Given the description of an element on the screen output the (x, y) to click on. 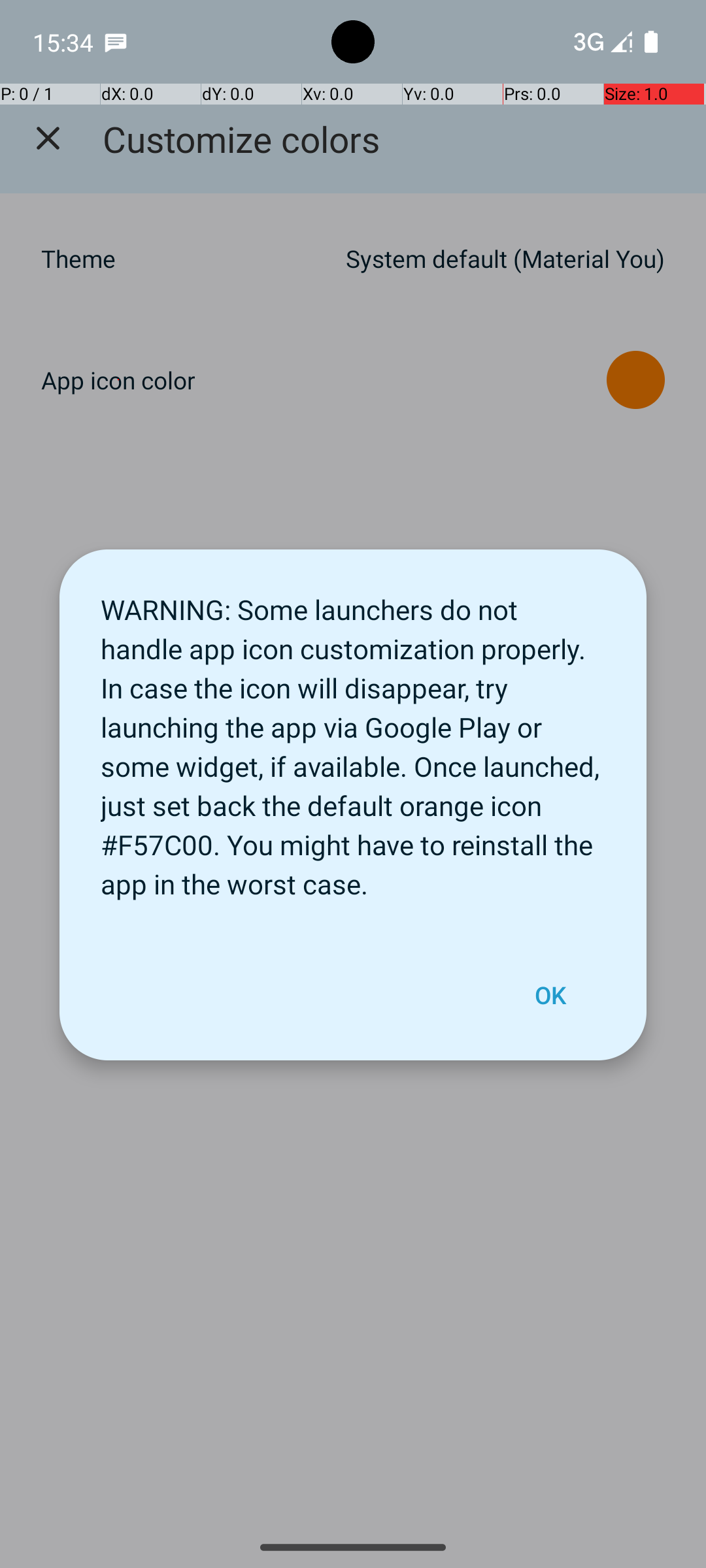
WARNING: Some launchers do not handle app icon customization properly. In case the icon will disappear, try launching the app via Google Play or some widget, if available. Once launched, just set back the default orange icon #F57C00. You might have to reinstall the app in the worst case. Element type: android.widget.TextView (352, 739)
